Given the description of an element on the screen output the (x, y) to click on. 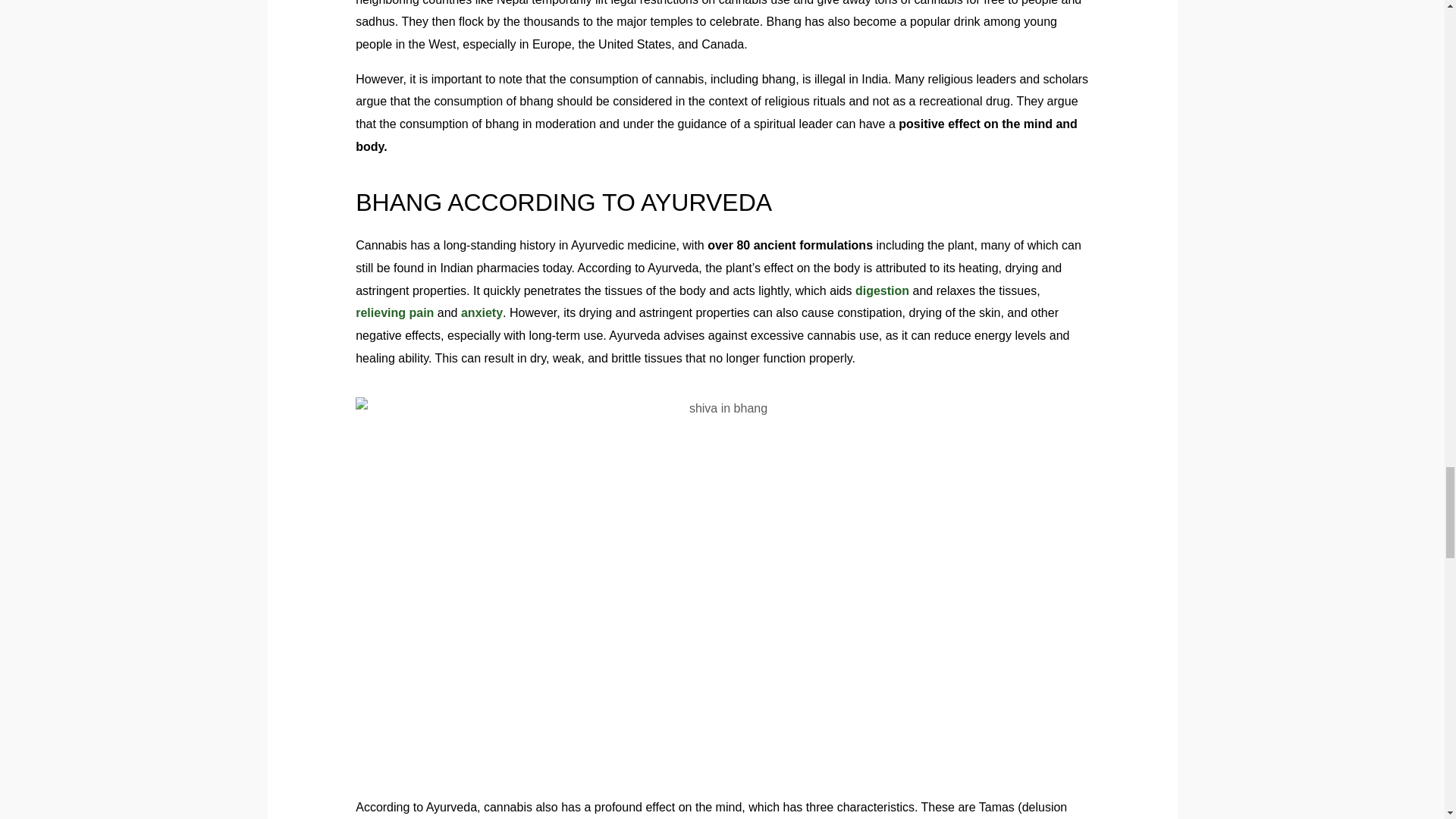
digestion (882, 290)
relieving pain (394, 312)
anxiety (481, 312)
